Given the description of an element on the screen output the (x, y) to click on. 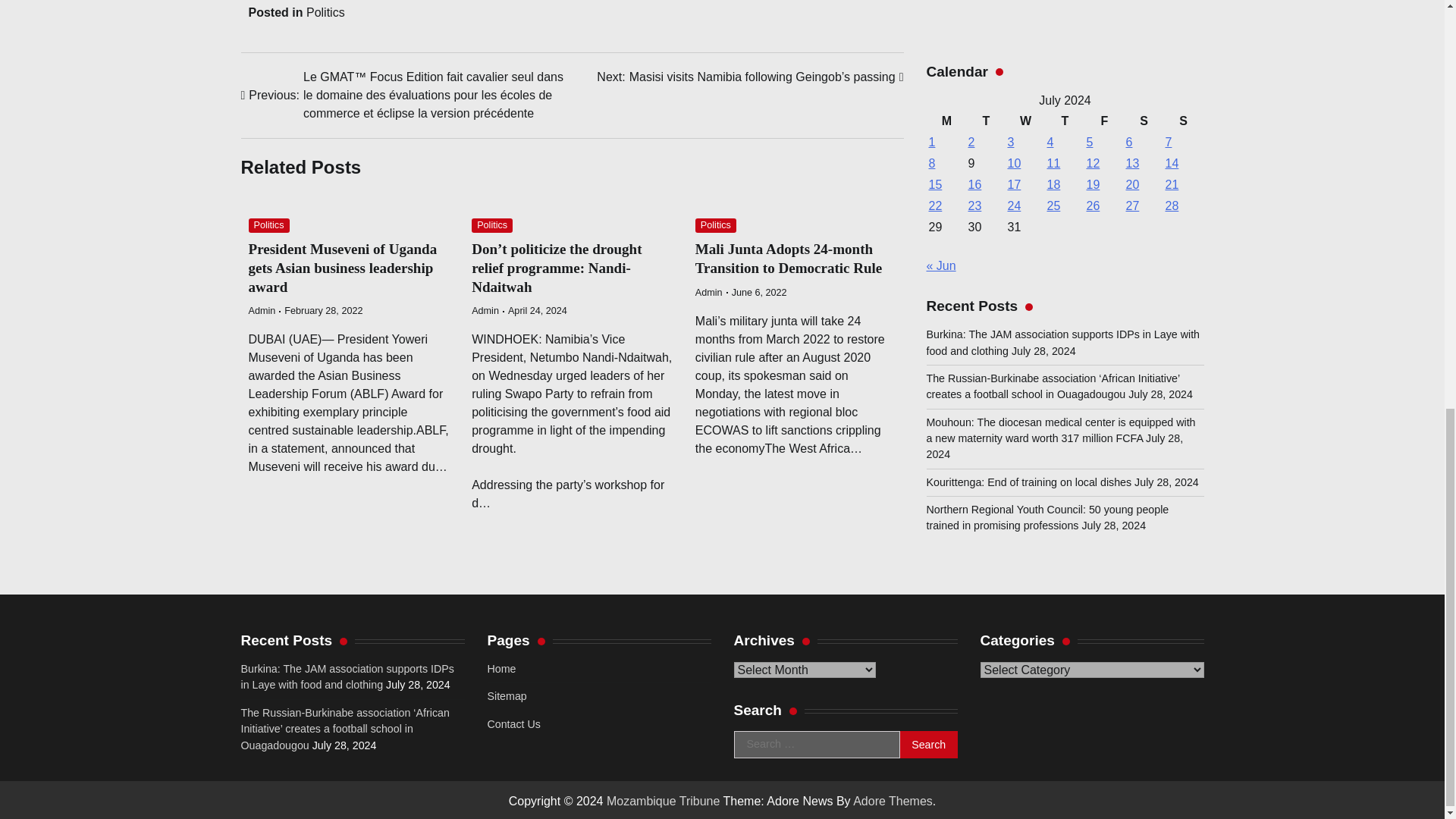
Search (928, 744)
Mali Junta Adopts 24-month Transition to Democratic Rule (788, 258)
Saturday (1144, 107)
Admin (262, 310)
Wednesday (1026, 107)
Tuesday (987, 107)
Politics (491, 225)
Friday (1105, 107)
Thursday (1065, 107)
Admin (485, 310)
Politics (325, 11)
Politics (715, 225)
Sunday (1183, 107)
Search (928, 744)
